Given the description of an element on the screen output the (x, y) to click on. 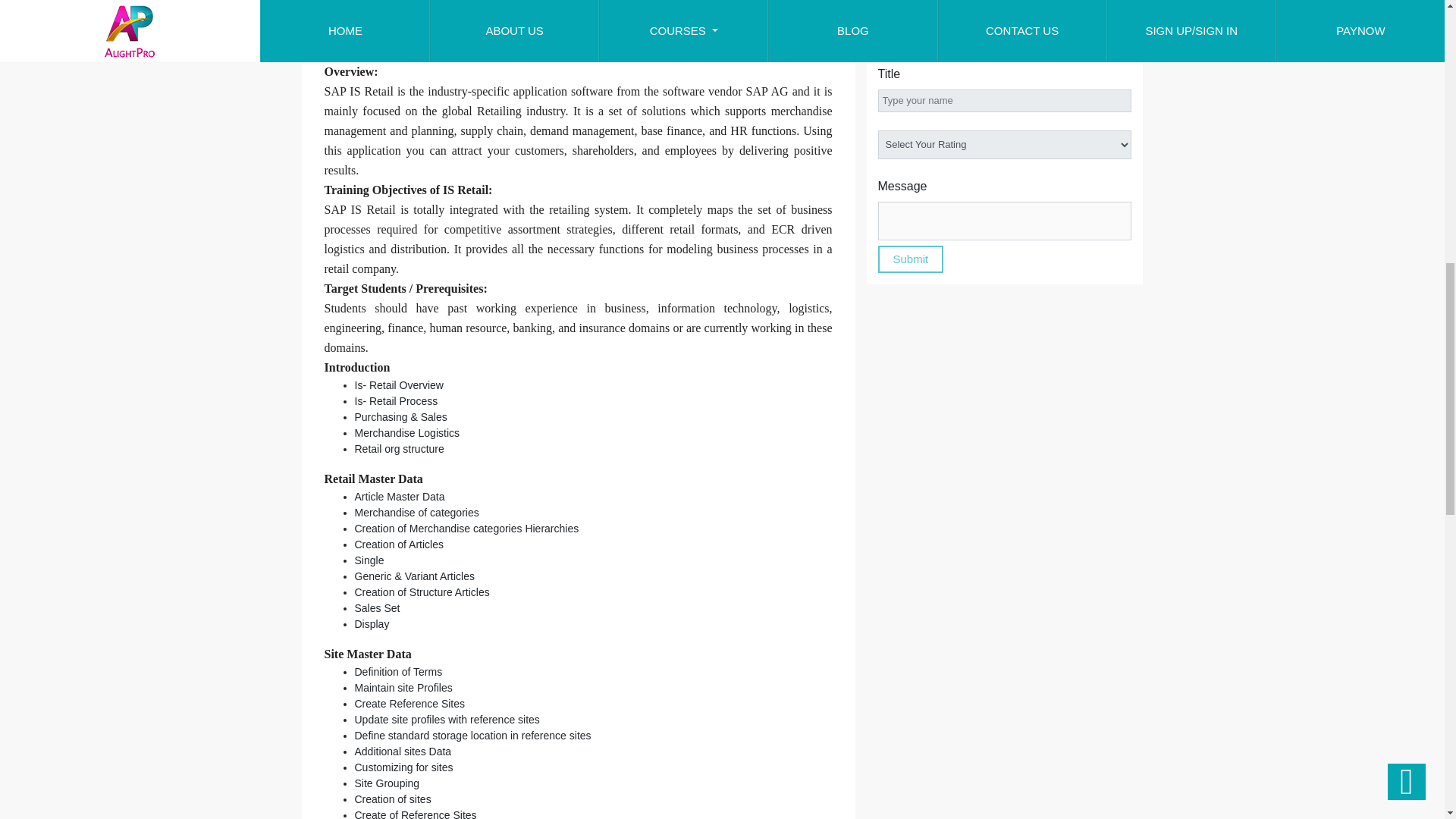
Description (358, 34)
Batch Schedules (542, 34)
Submit (910, 259)
Reviews (443, 34)
